Given the description of an element on the screen output the (x, y) to click on. 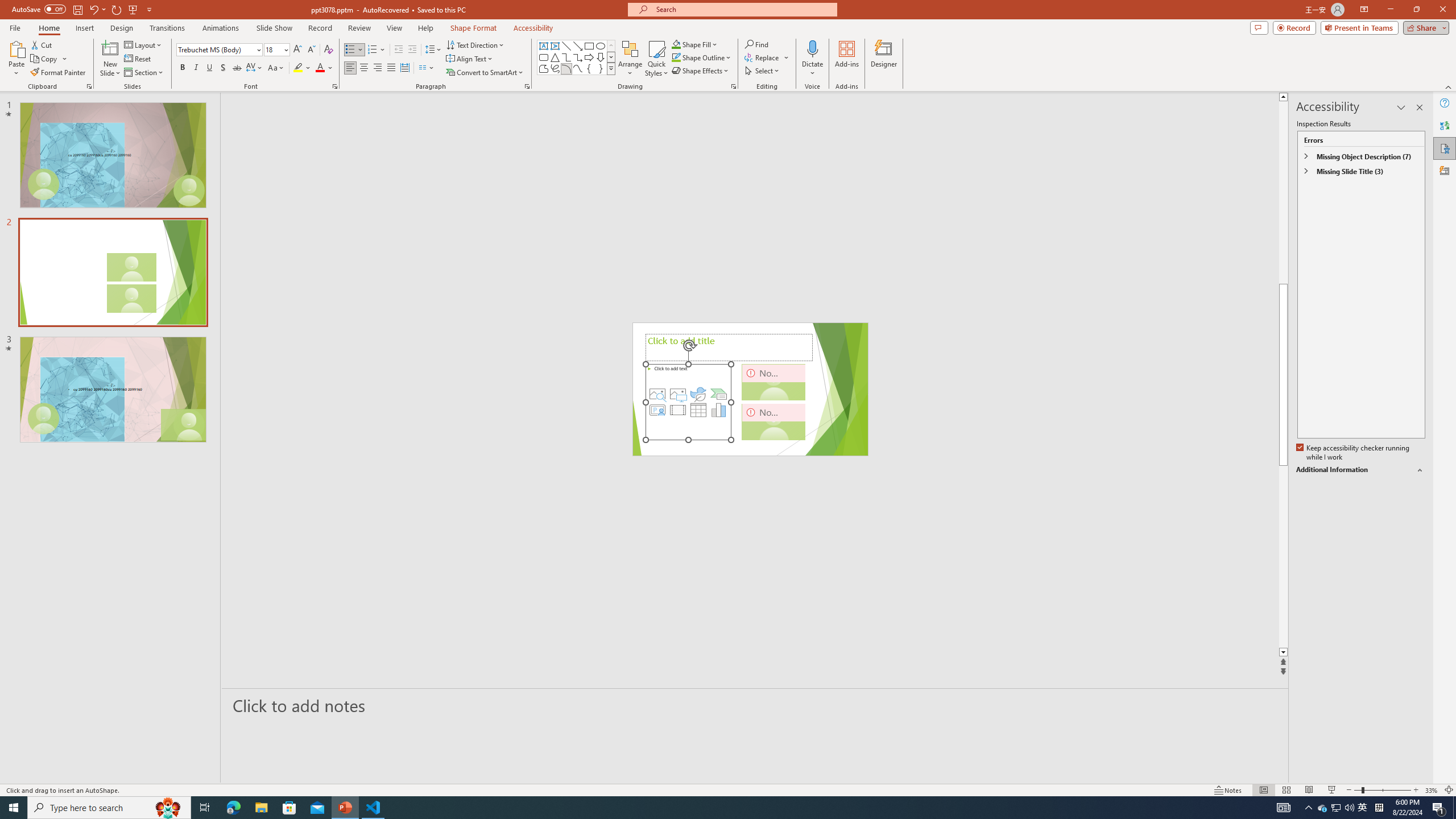
Camera 5, No camera detected. (773, 382)
